Given the description of an element on the screen output the (x, y) to click on. 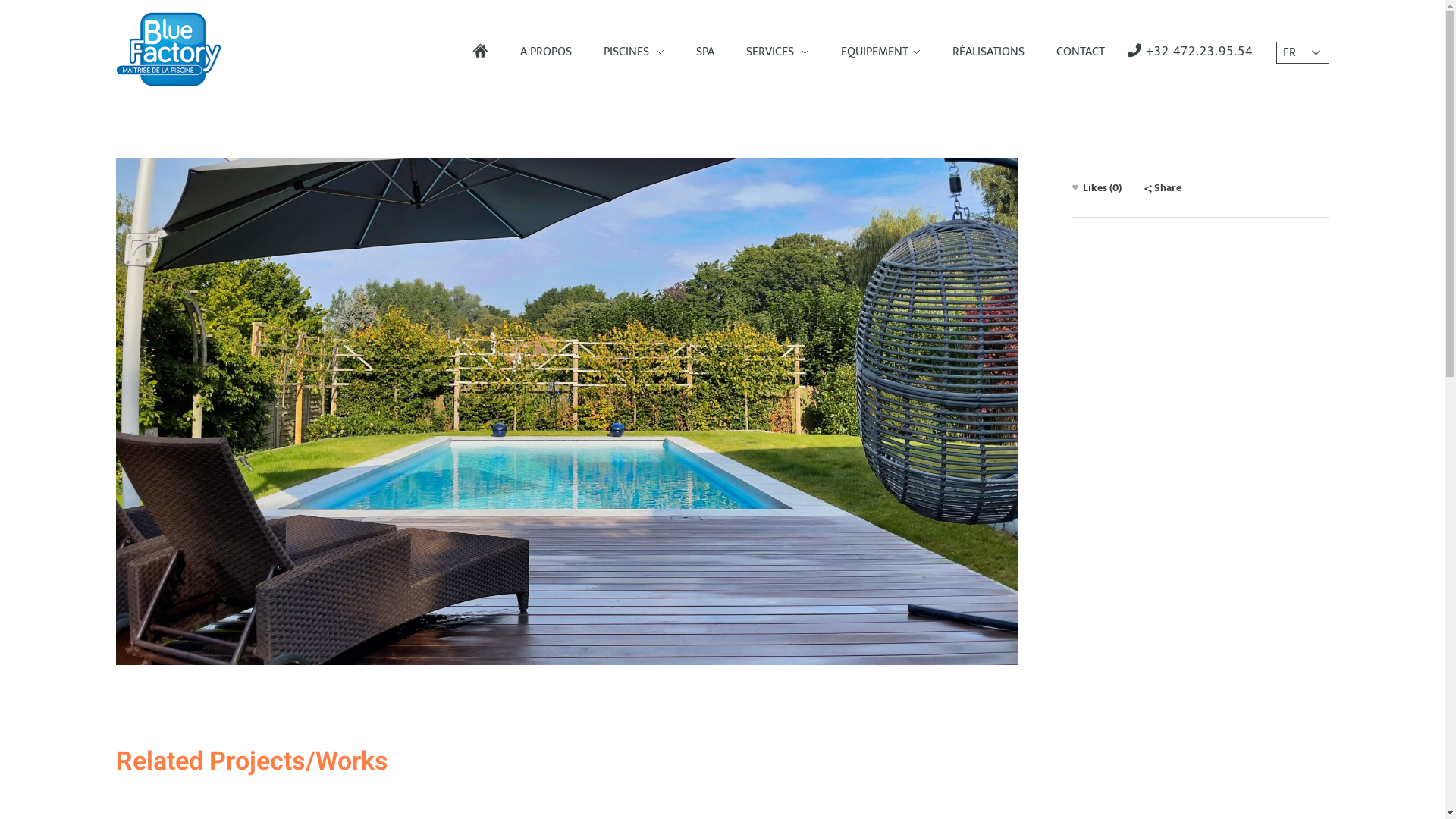
A PROPOS Element type: text (544, 52)
SERVICES Element type: text (776, 52)
SPA Element type: text (704, 52)
CONTACT Element type: text (1072, 52)
PISCINES Element type: text (632, 52)
FR Element type: text (1301, 52)
Blue Factory Element type: hover (168, 49)
+32 472.23.95.54 Element type: text (1189, 51)
Blue Factory Element type: text (170, 95)
